Given the description of an element on the screen output the (x, y) to click on. 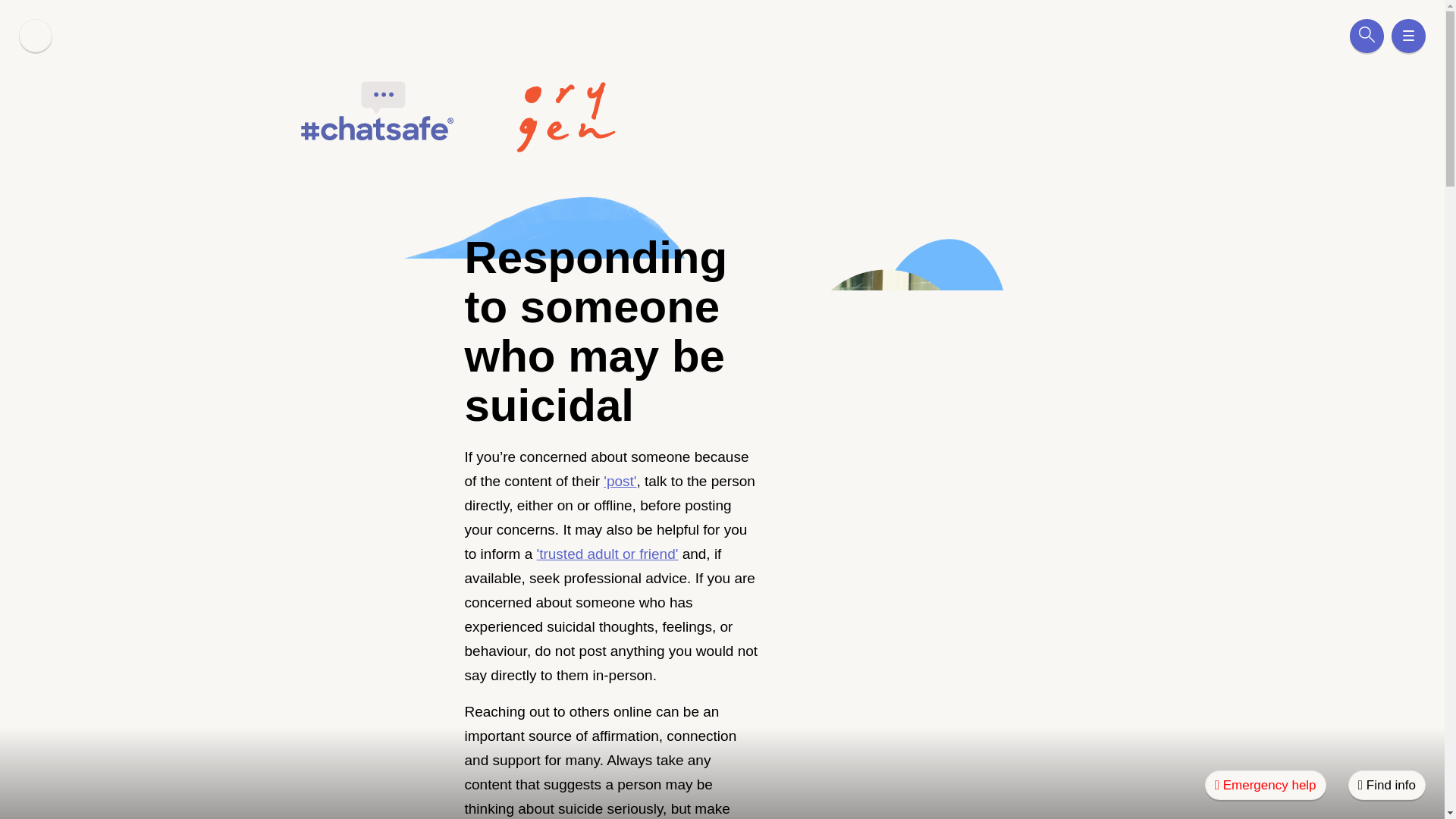
'trusted adult or friend' (607, 553)
Site search (1366, 35)
Talking safely online about suicide (892, 345)
'post' (620, 480)
Site Search (1366, 35)
Back (35, 35)
